Given the description of an element on the screen output the (x, y) to click on. 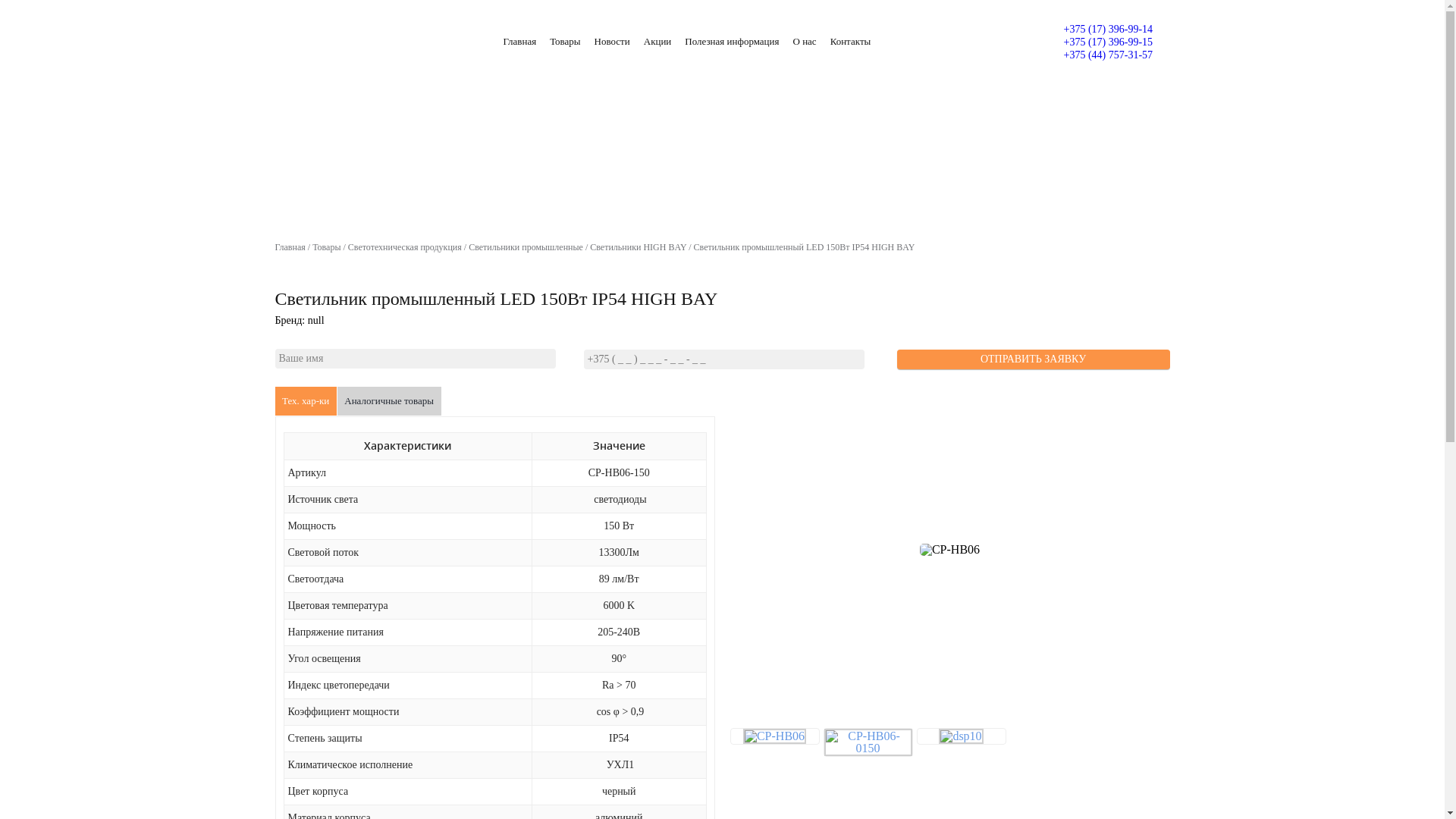
+375 (17) 396-99-14 Element type: text (1107, 28)
+375 (44) 757-31-57 Element type: text (1107, 54)
+375 (17) 396-99-15 Element type: text (1107, 41)
